Given the description of an element on the screen output the (x, y) to click on. 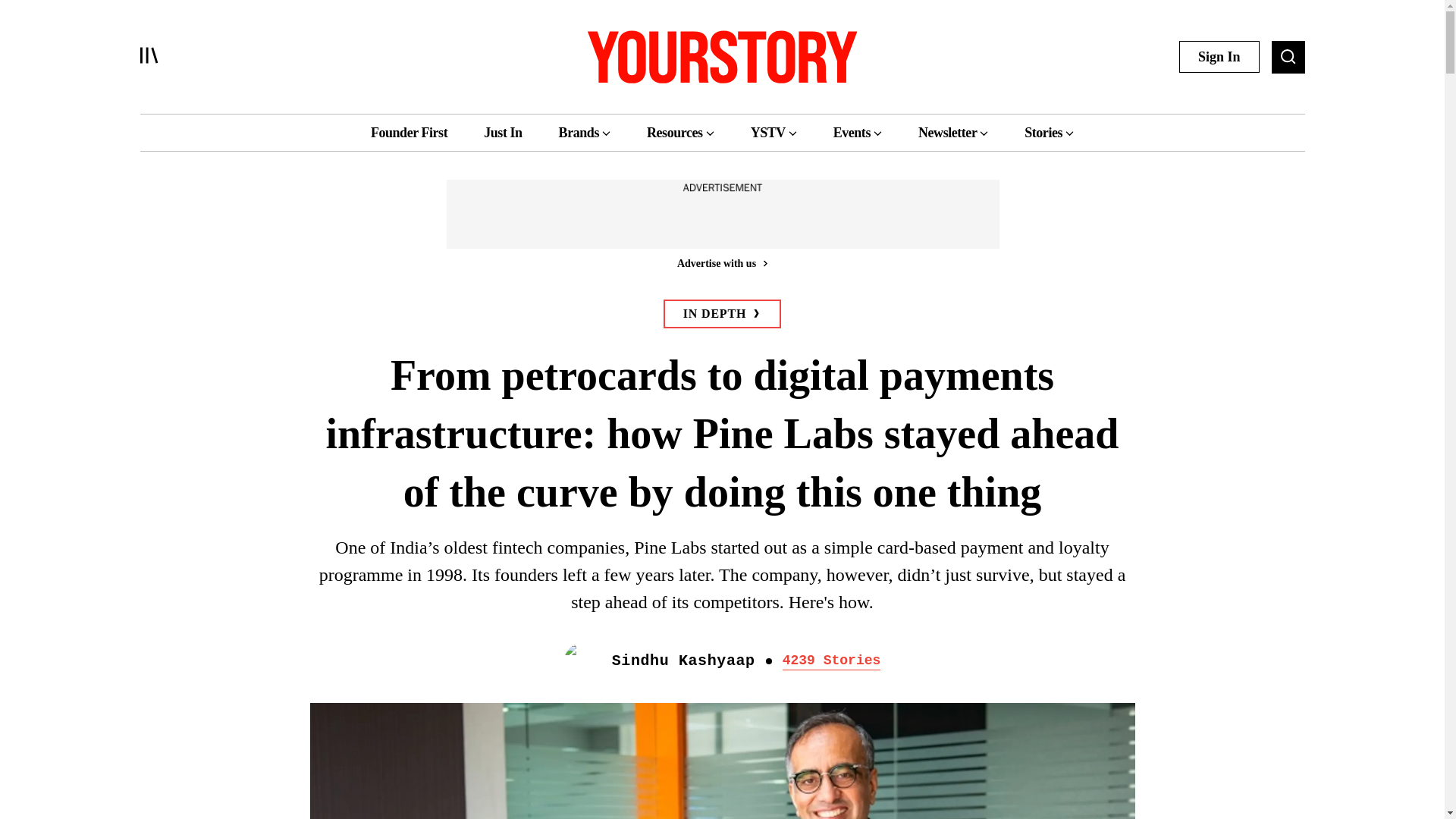
IN DEPTH (721, 313)
4239 Stories (831, 660)
Advertise with us (721, 263)
Just In (502, 132)
Founder First (408, 132)
Sindhu Kashyaap (683, 661)
